Given the description of an element on the screen output the (x, y) to click on. 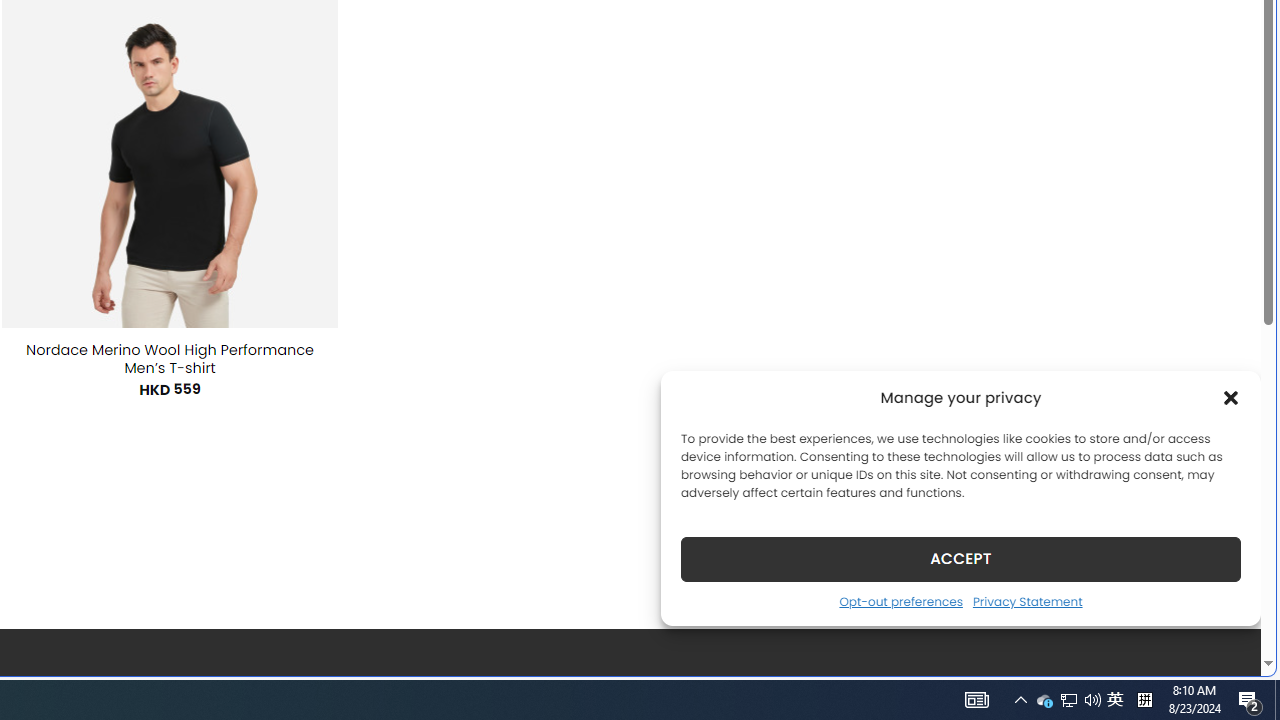
Go to top (1220, 647)
Privacy Statement (1026, 601)
Class: cmplz-close (1231, 397)
ACCEPT (960, 558)
Opt-out preferences (900, 601)
google_privacy_policy_zh-CN.pdf (687, 482)
